Given the description of an element on the screen output the (x, y) to click on. 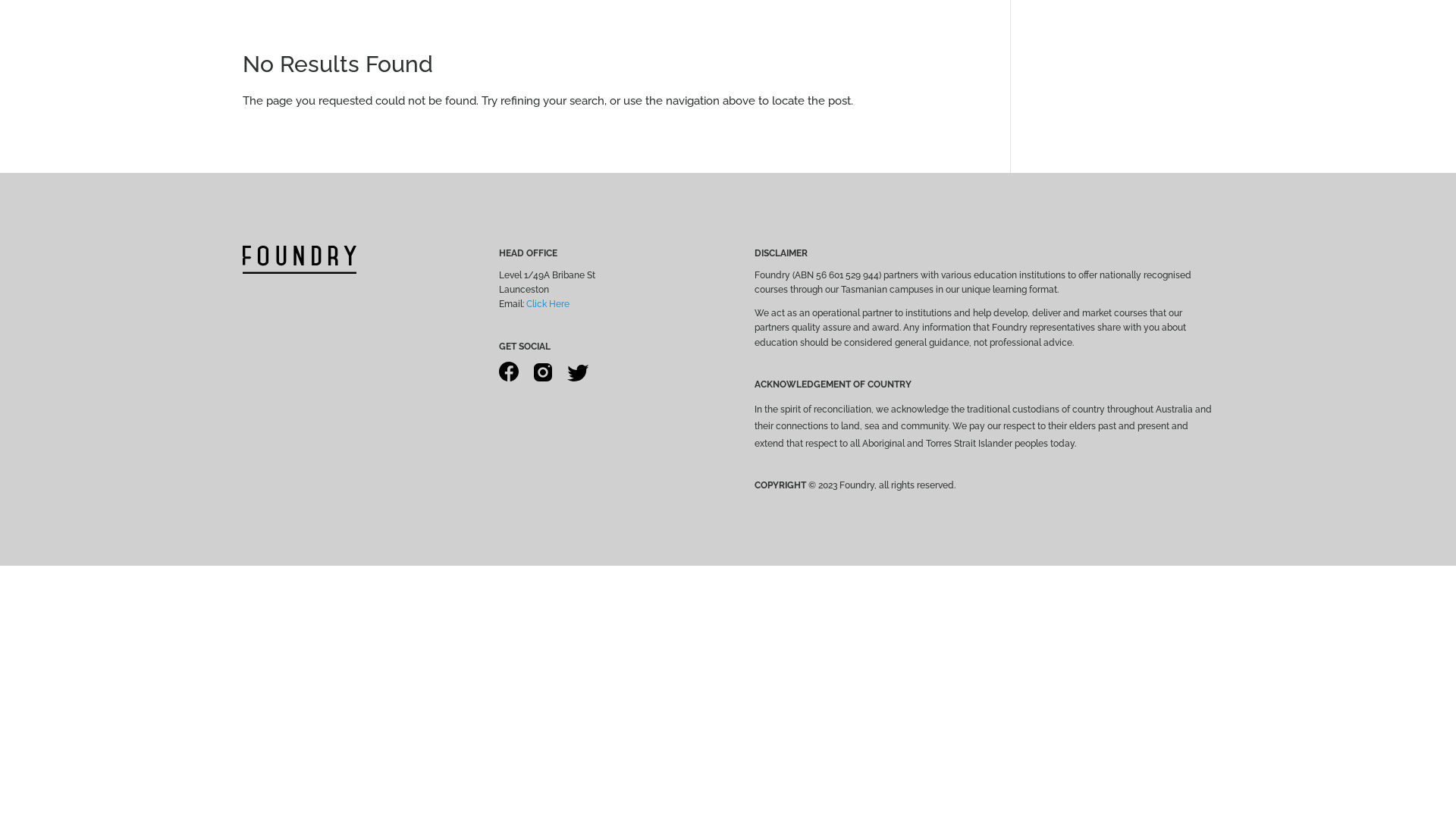
Click Here Element type: text (547, 303)
CAMPUSES Element type: text (688, 69)
ABOUT Element type: text (626, 69)
CONTACT Element type: text (822, 69)
Foundry_Logo-Black Element type: hover (299, 259)
INDUSTRY Element type: text (756, 69)
